Given the description of an element on the screen output the (x, y) to click on. 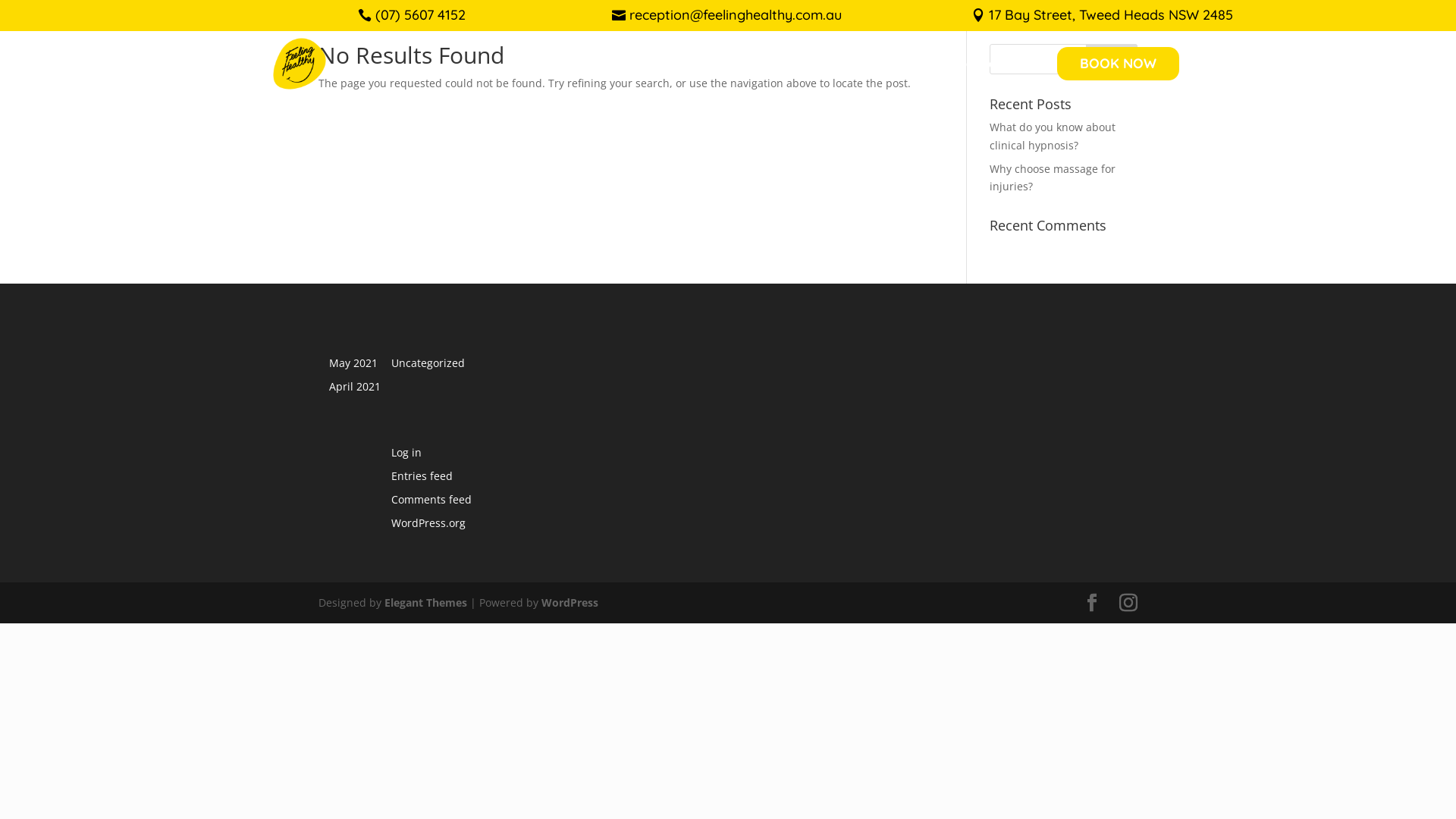
Entries feed Element type: text (421, 475)
What do you know about clinical hypnosis? Element type: text (1052, 135)
Services Element type: text (774, 63)
Comments feed Element type: text (431, 499)
Blog Element type: text (841, 63)
Why choose massage for injuries? Element type: text (1052, 177)
About Us Element type: text (903, 63)
April 2021 Element type: text (354, 386)
May 2021 Element type: text (353, 362)
Elegant Themes Element type: text (425, 602)
WordPress.org Element type: text (428, 522)
Uncategorized Element type: text (427, 362)
Contact Us Element type: text (993, 63)
WordPress Element type: text (569, 602)
(07) 5607 4152 Element type: text (420, 15)
17 Bay Street, Tweed Heads NSW 2485 Element type: text (1110, 15)
Search Element type: text (1111, 58)
Home Element type: text (702, 63)
BOOK NOW Element type: text (1118, 63)
Log in Element type: text (406, 452)
reception@feelinghealthy.com.au Element type: text (735, 15)
